Given the description of an element on the screen output the (x, y) to click on. 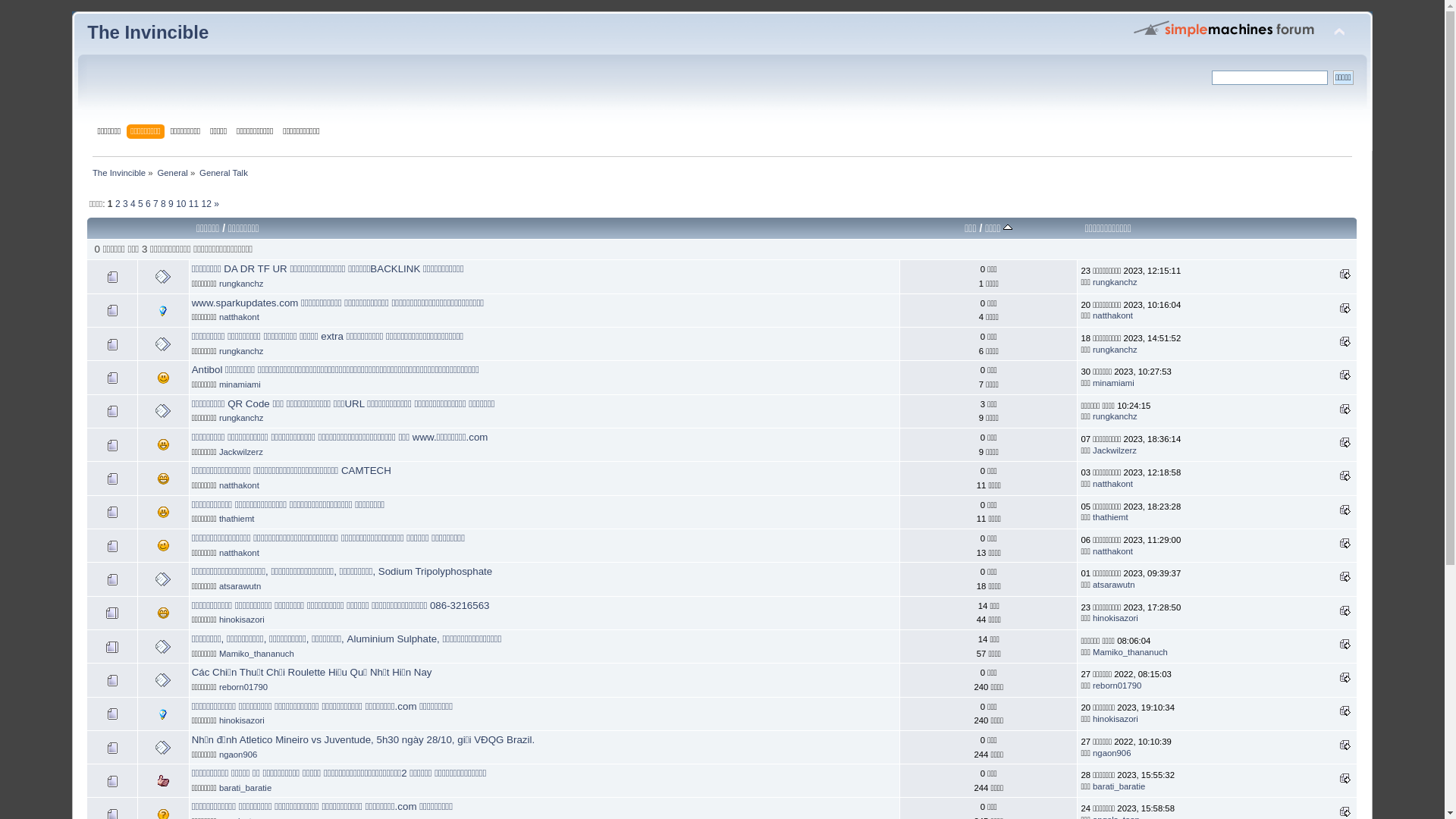
5 Element type: text (140, 203)
7 Element type: text (155, 203)
minamiami Element type: text (1113, 382)
4 Element type: text (132, 203)
barati_baratie Element type: text (245, 787)
rungkanchz Element type: text (1114, 415)
rungkanchz Element type: text (241, 283)
General Element type: text (172, 172)
11 Element type: text (193, 203)
thathiemt Element type: text (236, 518)
natthakont Element type: text (1112, 550)
rungkanchz Element type: text (1114, 349)
Mamiko_thananuch Element type: text (1129, 651)
minamiami Element type: text (239, 384)
9 Element type: text (170, 203)
8 Element type: text (163, 203)
rungkanchz Element type: text (241, 417)
atsarawutn Element type: text (239, 585)
hinokisazori Element type: text (241, 719)
Jackwilzerz Element type: text (1114, 450)
natthakont Element type: text (1112, 483)
natthakont Element type: text (1112, 315)
natthakont Element type: text (239, 316)
12 Element type: text (206, 203)
General Talk Element type: text (223, 172)
10 Element type: text (180, 203)
3 Element type: text (125, 203)
rungkanchz Element type: text (1114, 281)
reborn01790 Element type: text (243, 686)
natthakont Element type: text (239, 484)
hinokisazori Element type: text (1115, 718)
hinokisazori Element type: text (1115, 617)
Simple Machines Forum Element type: hover (1224, 27)
2 Element type: text (117, 203)
atsarawutn Element type: text (1113, 584)
thathiemt Element type: text (1110, 516)
hinokisazori Element type: text (241, 619)
barati_baratie Element type: text (1118, 785)
The Invincible Element type: text (118, 172)
ngaon906 Element type: text (1111, 751)
reborn01790 Element type: text (1116, 685)
Mamiko_thananuch Element type: text (256, 653)
Jackwilzerz Element type: text (241, 451)
ngaon906 Element type: text (238, 753)
rungkanchz Element type: text (241, 350)
The Invincible Element type: text (147, 31)
natthakont Element type: text (239, 552)
6 Element type: text (147, 203)
